Given the description of an element on the screen output the (x, y) to click on. 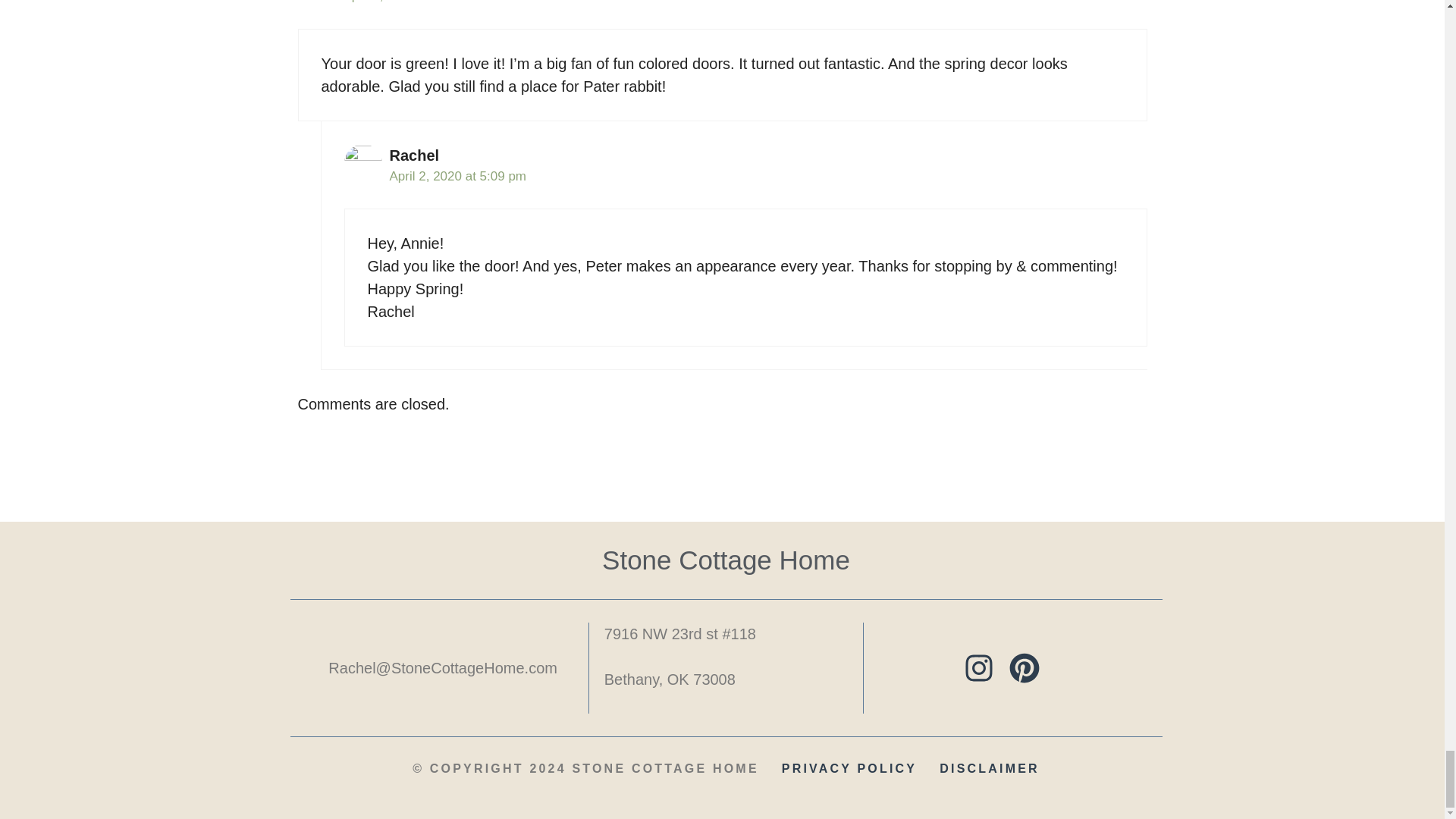
April 2, 2020 at 8:59 am (411, 1)
DISCLAIMER (989, 769)
April 2, 2020 at 5:09 pm (458, 175)
PRIVACY POLICY (849, 769)
